Given the description of an element on the screen output the (x, y) to click on. 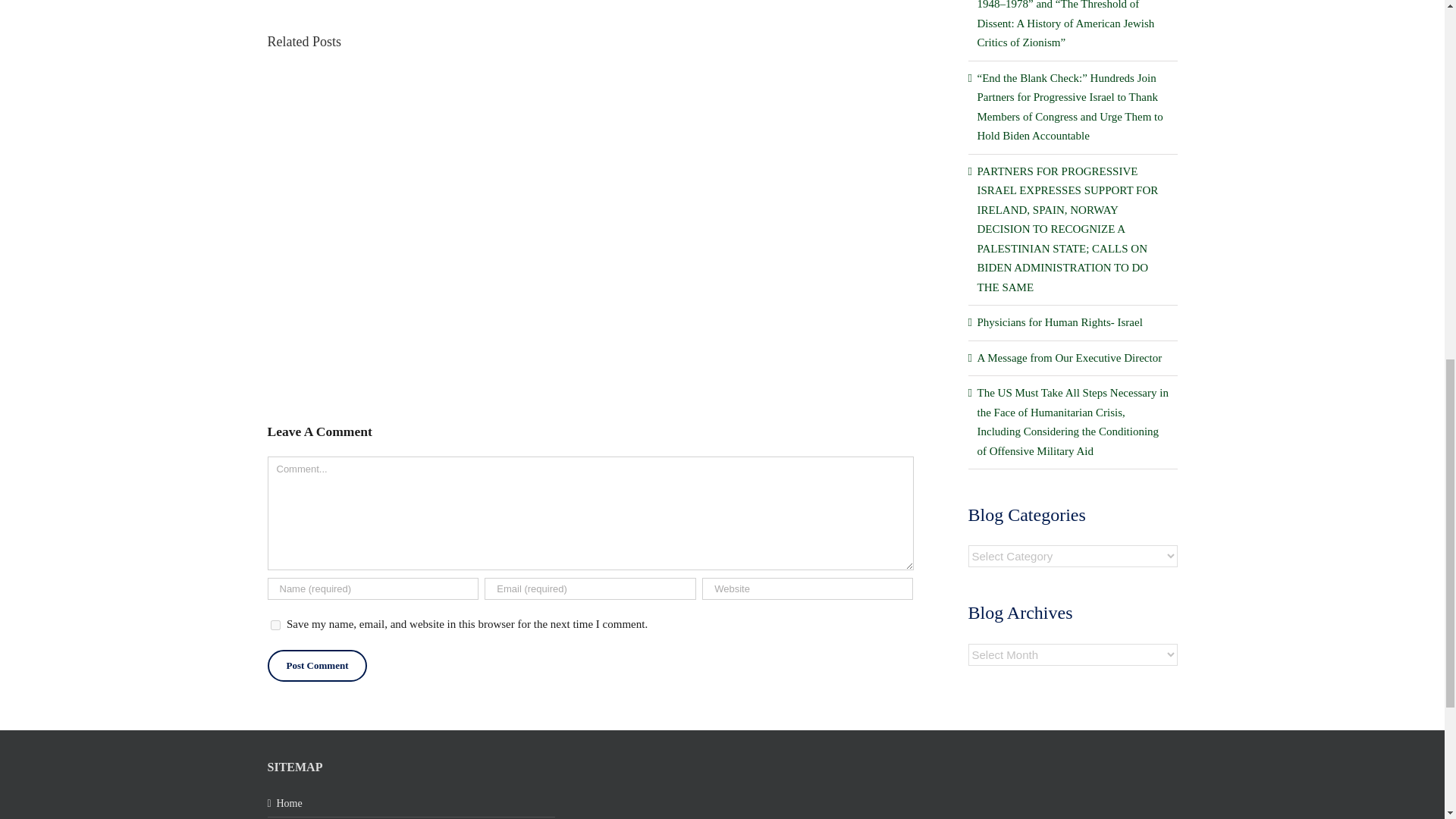
Post Comment (316, 665)
yes (274, 624)
